Given the description of an element on the screen output the (x, y) to click on. 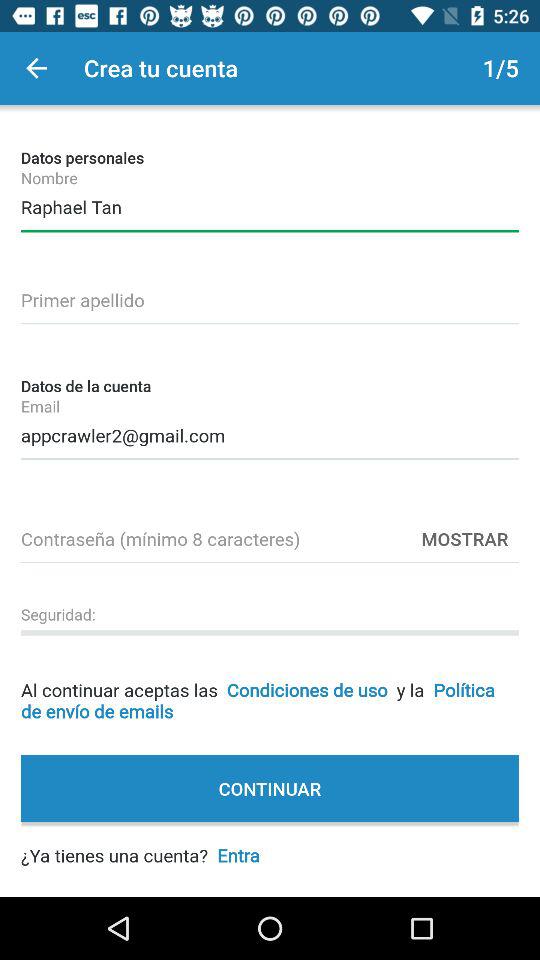
jump until the mostrar item (465, 538)
